Given the description of an element on the screen output the (x, y) to click on. 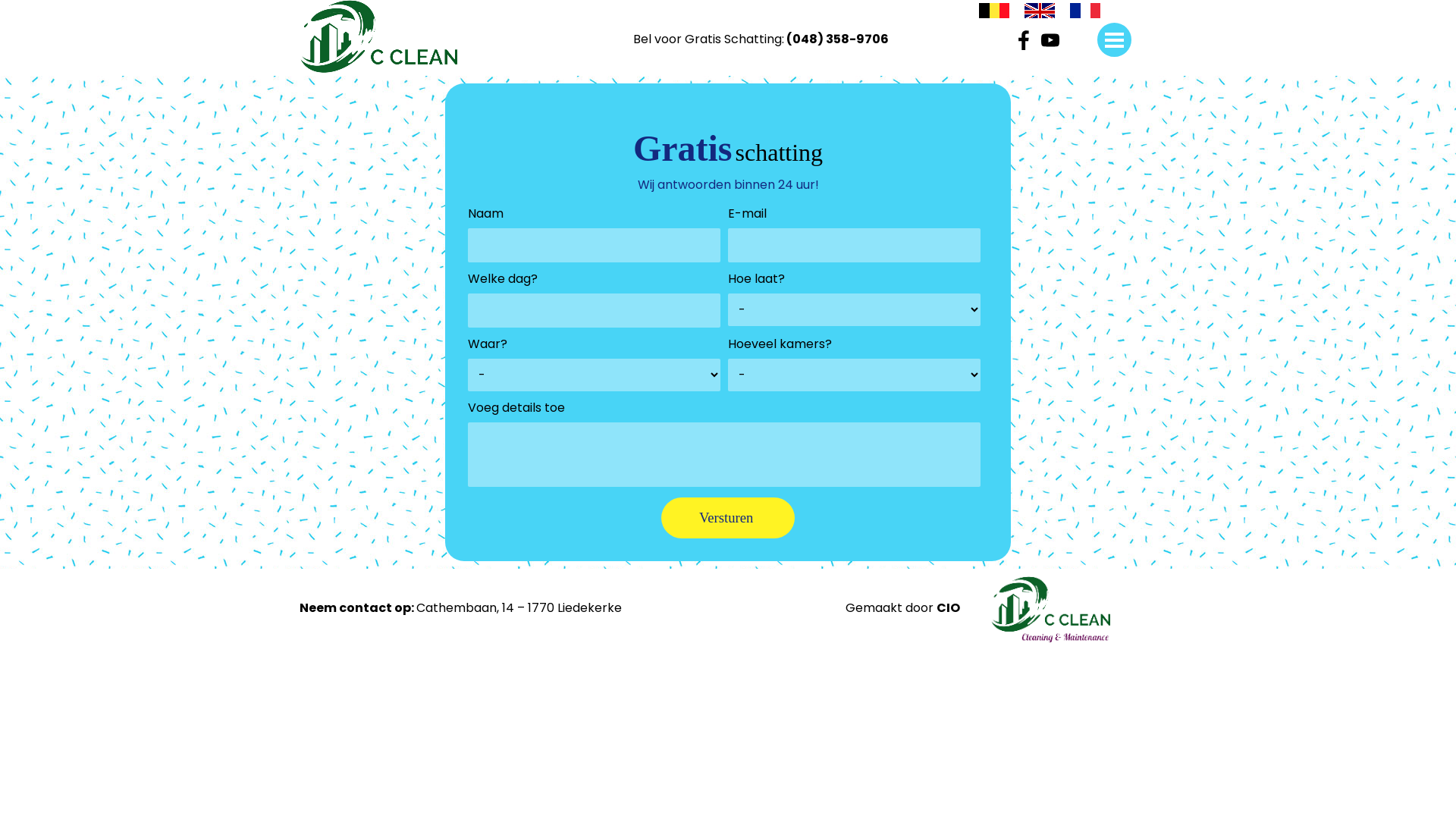
DCClean logo Element type: hover (1050, 609)
DCClean logo Element type: hover (378, 36)
FR flag Element type: hover (1085, 13)
048) 358-9706 Element type: text (840, 38)
CIO Element type: text (948, 607)
( Element type: text (789, 38)
BE flag Element type: hover (994, 13)
UK flag Element type: hover (1039, 11)
